Given the description of an element on the screen output the (x, y) to click on. 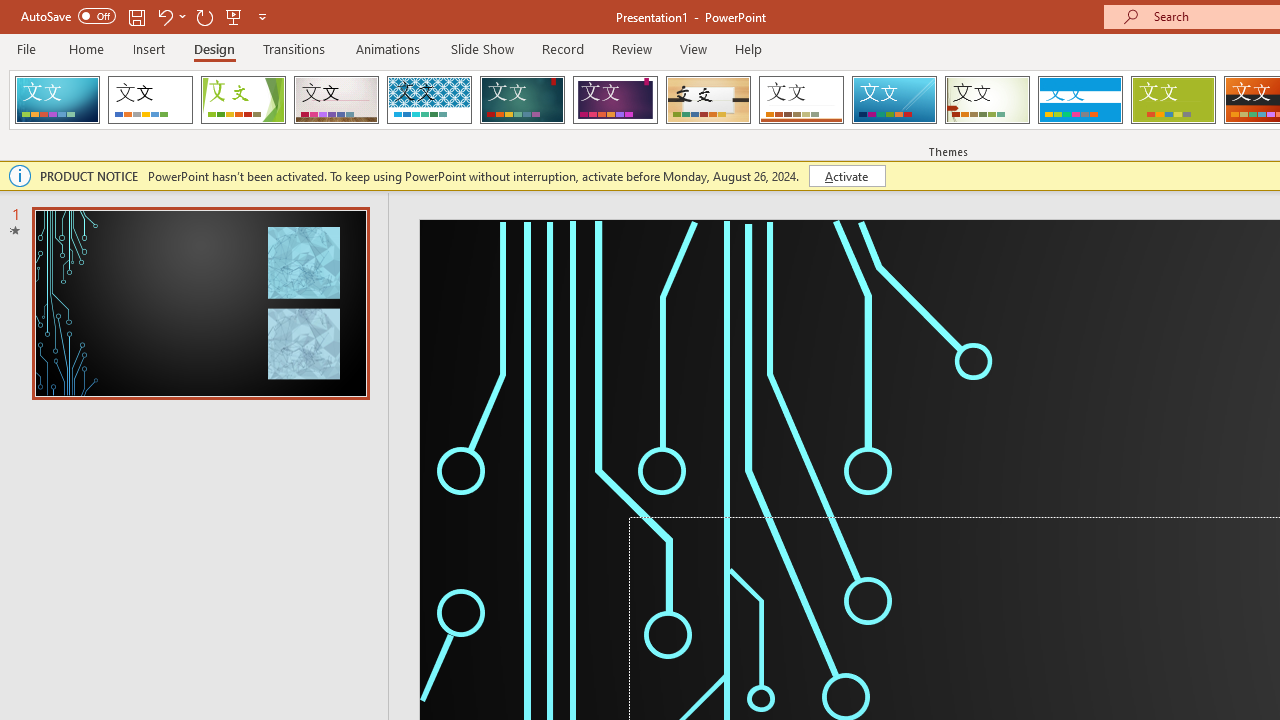
Organic (708, 100)
Basis (1172, 100)
FadeVTI (57, 100)
Transitions (294, 48)
Facet (243, 100)
Design (214, 48)
